Given the description of an element on the screen output the (x, y) to click on. 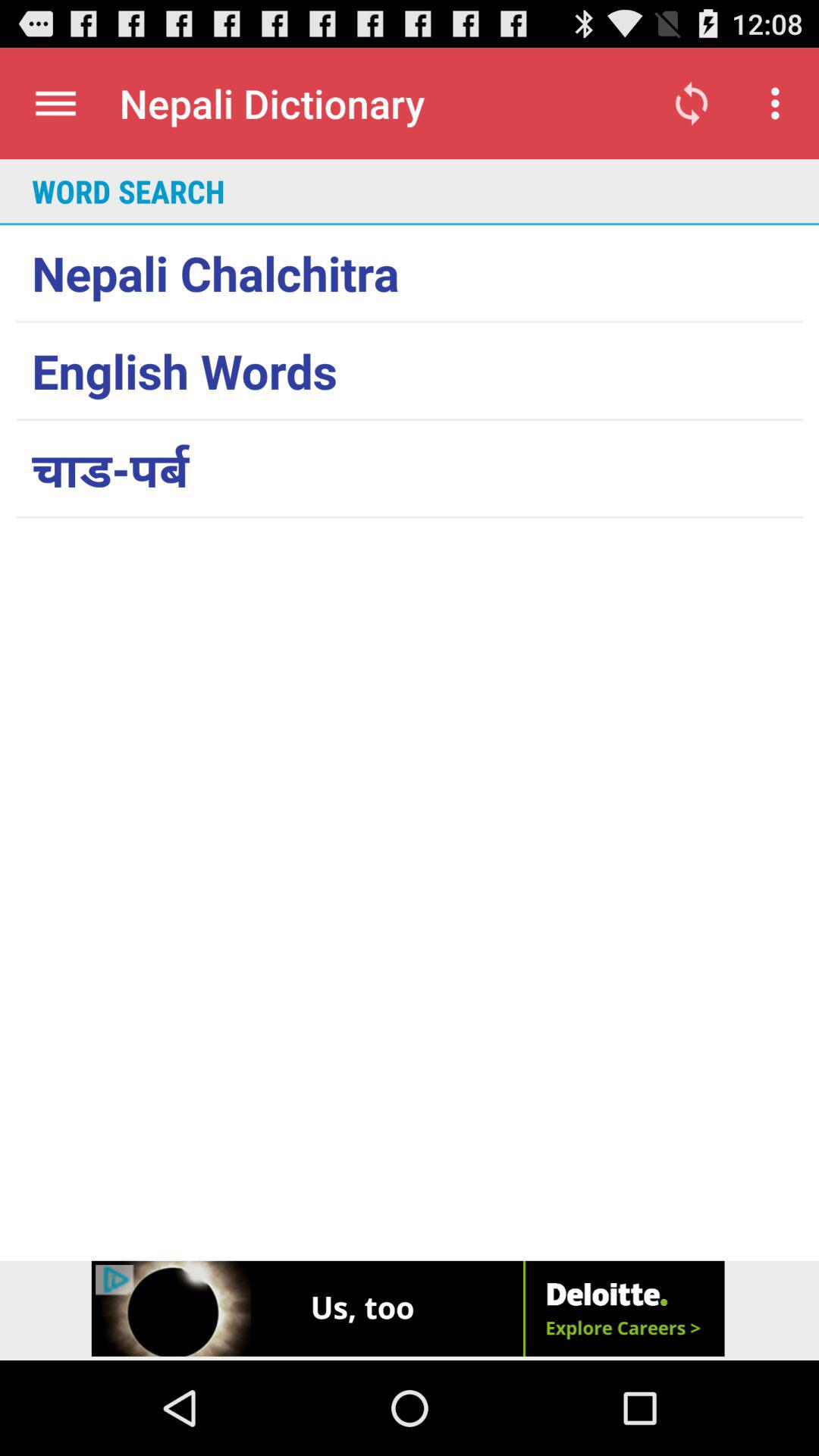
view advertisement (409, 1310)
